Given the description of an element on the screen output the (x, y) to click on. 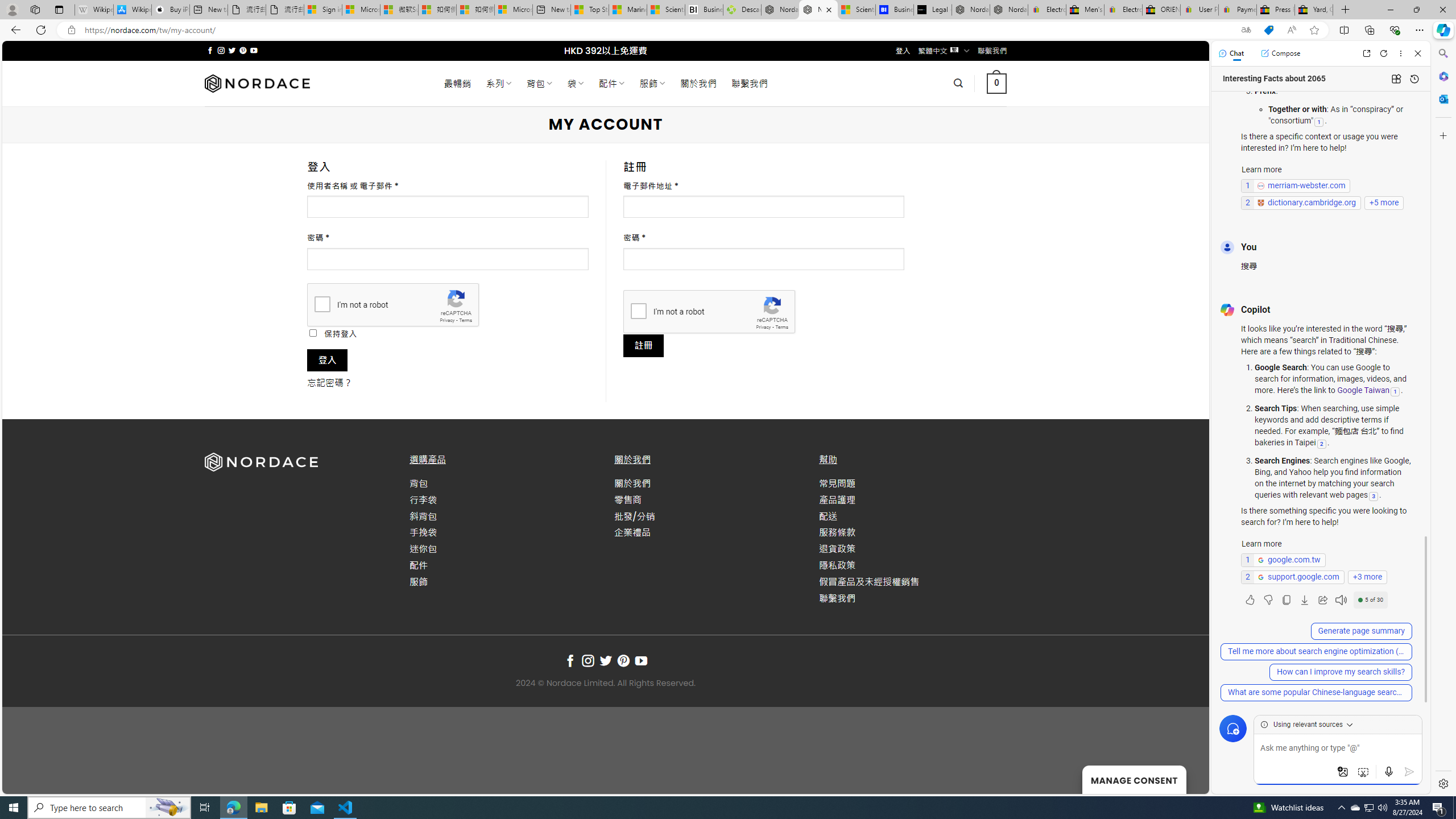
MANAGE CONSENT (1133, 779)
Minimize Search pane (1442, 53)
Terms (781, 326)
